Given the description of an element on the screen output the (x, y) to click on. 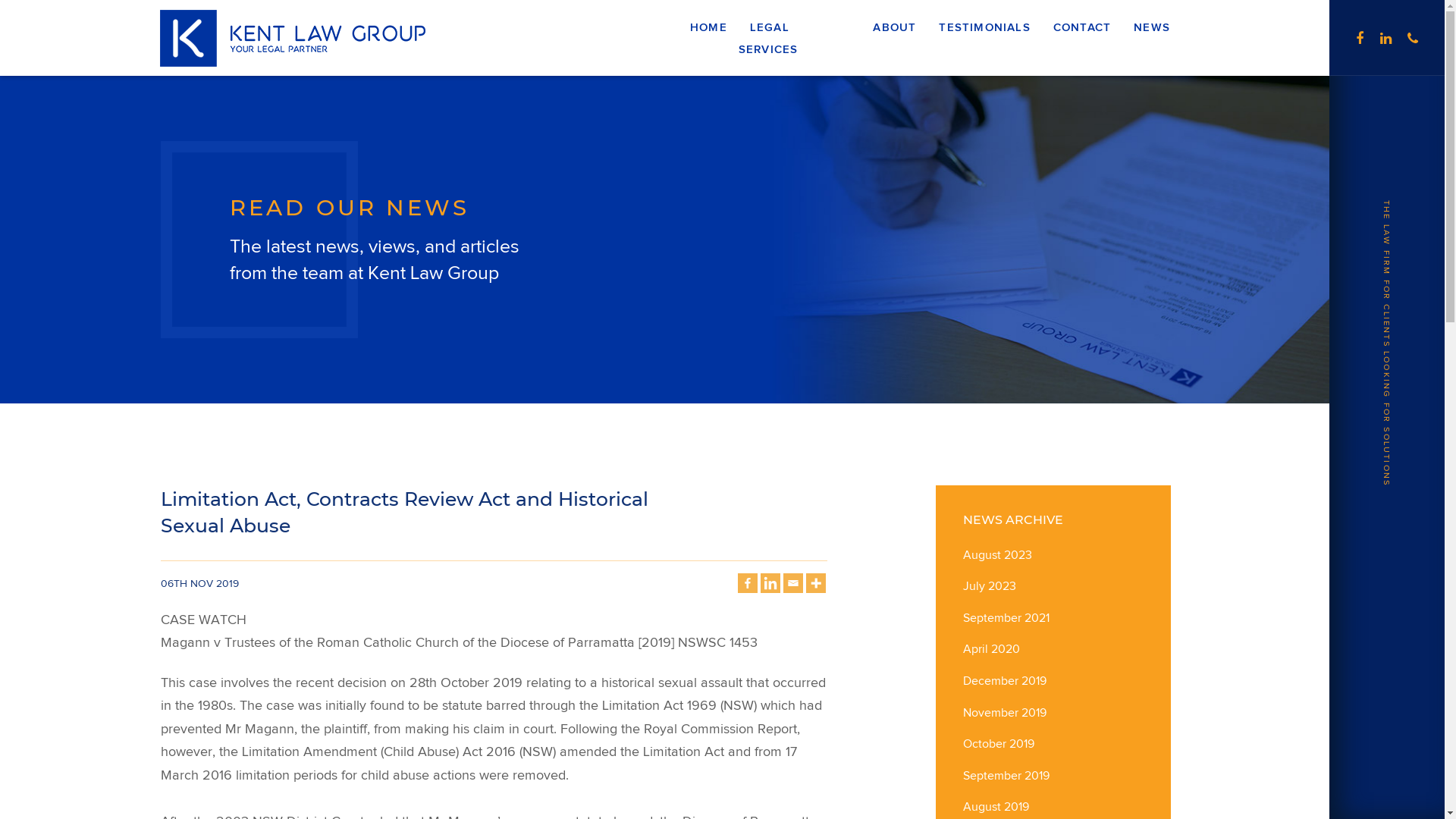
HOME Element type: text (708, 27)
LEGAL SERVICES Element type: text (773, 38)
August 2019 Element type: text (996, 806)
December 2019 Element type: text (1004, 680)
September 2021 Element type: text (1006, 617)
July 2023 Element type: text (989, 585)
Email Element type: hover (793, 583)
Facebook Element type: hover (747, 583)
TESTIMONIALS Element type: text (984, 27)
October 2019 Element type: text (998, 743)
September 2019 Element type: text (1006, 774)
August 2023 Element type: text (997, 554)
More Element type: hover (815, 583)
CONTACT Element type: text (1081, 27)
April 2020 Element type: text (991, 648)
November 2019 Element type: text (1004, 712)
NEWS Element type: text (1146, 27)
Linkedin Element type: hover (770, 583)
ABOUT Element type: text (894, 27)
